Given the description of an element on the screen output the (x, y) to click on. 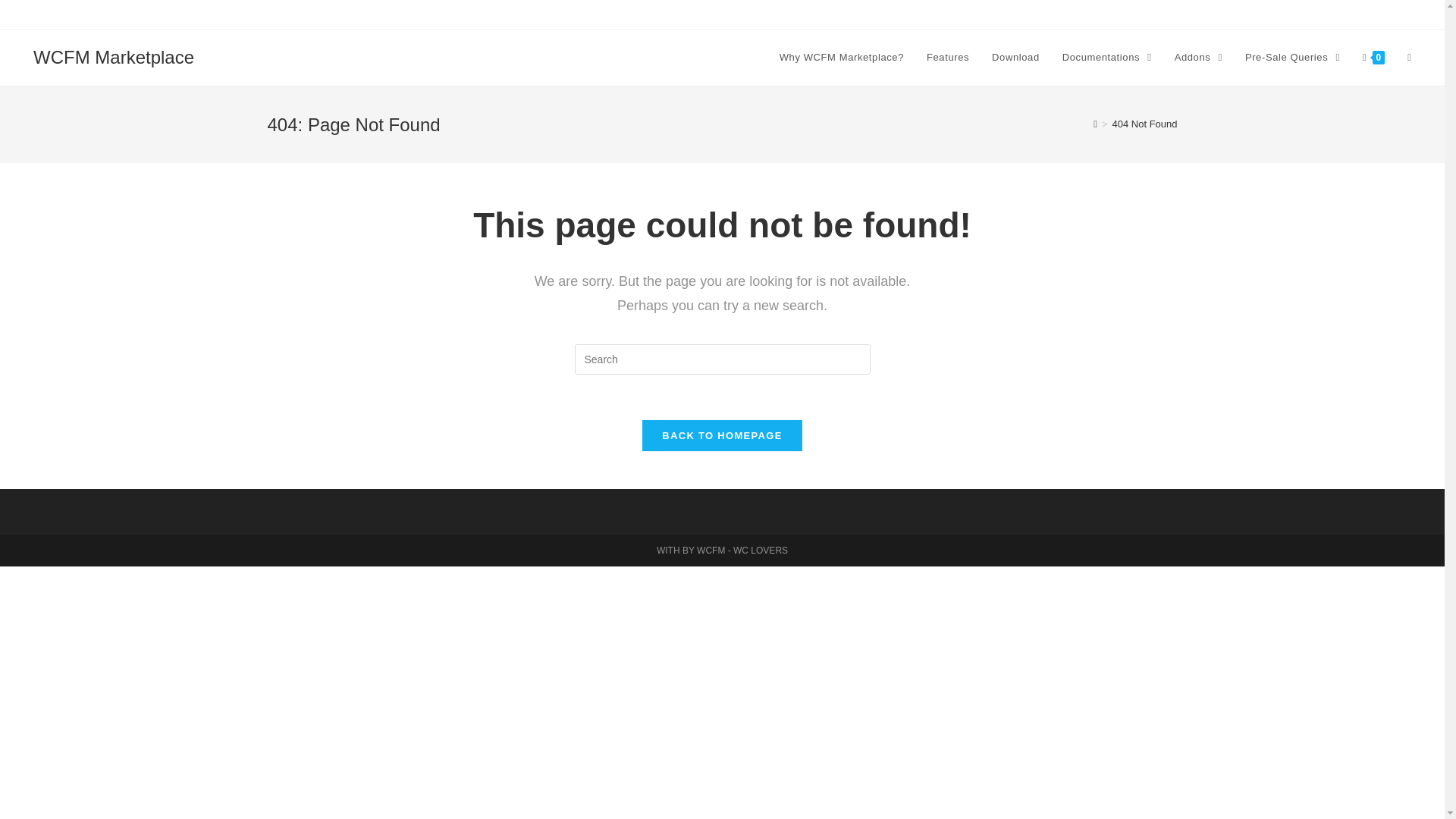
My account (1406, 13)
Become a Vendor (1334, 13)
Features (947, 57)
Store Manager (1257, 13)
WCFM Marketplace (113, 56)
Download (1015, 57)
Pre-Sale Queries (1292, 57)
Documentations (1107, 57)
Addons (1198, 57)
Why WCFM Marketplace? (841, 57)
